Given the description of an element on the screen output the (x, y) to click on. 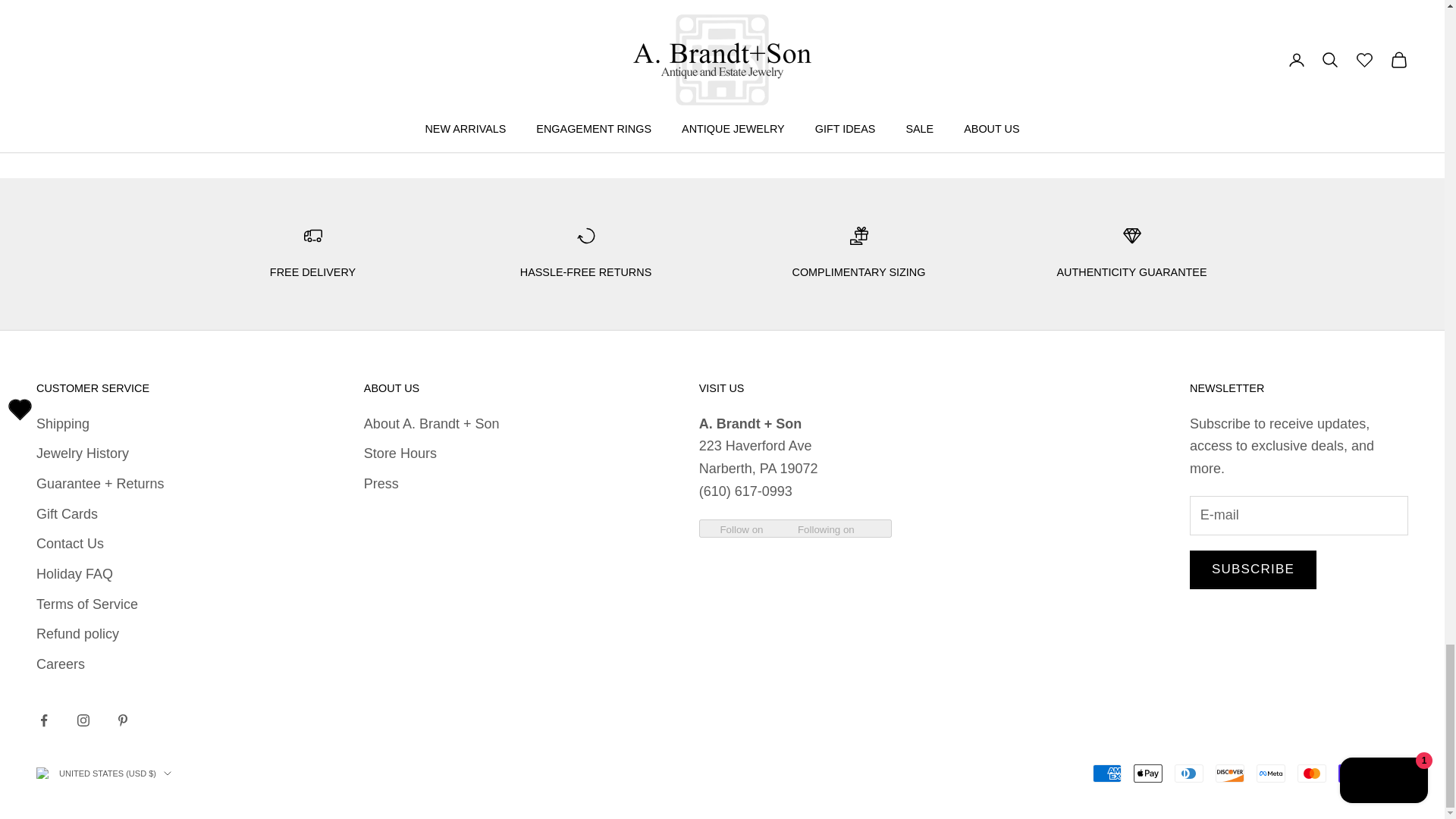
SPECIFICATIONS (497, 94)
